Given the description of an element on the screen output the (x, y) to click on. 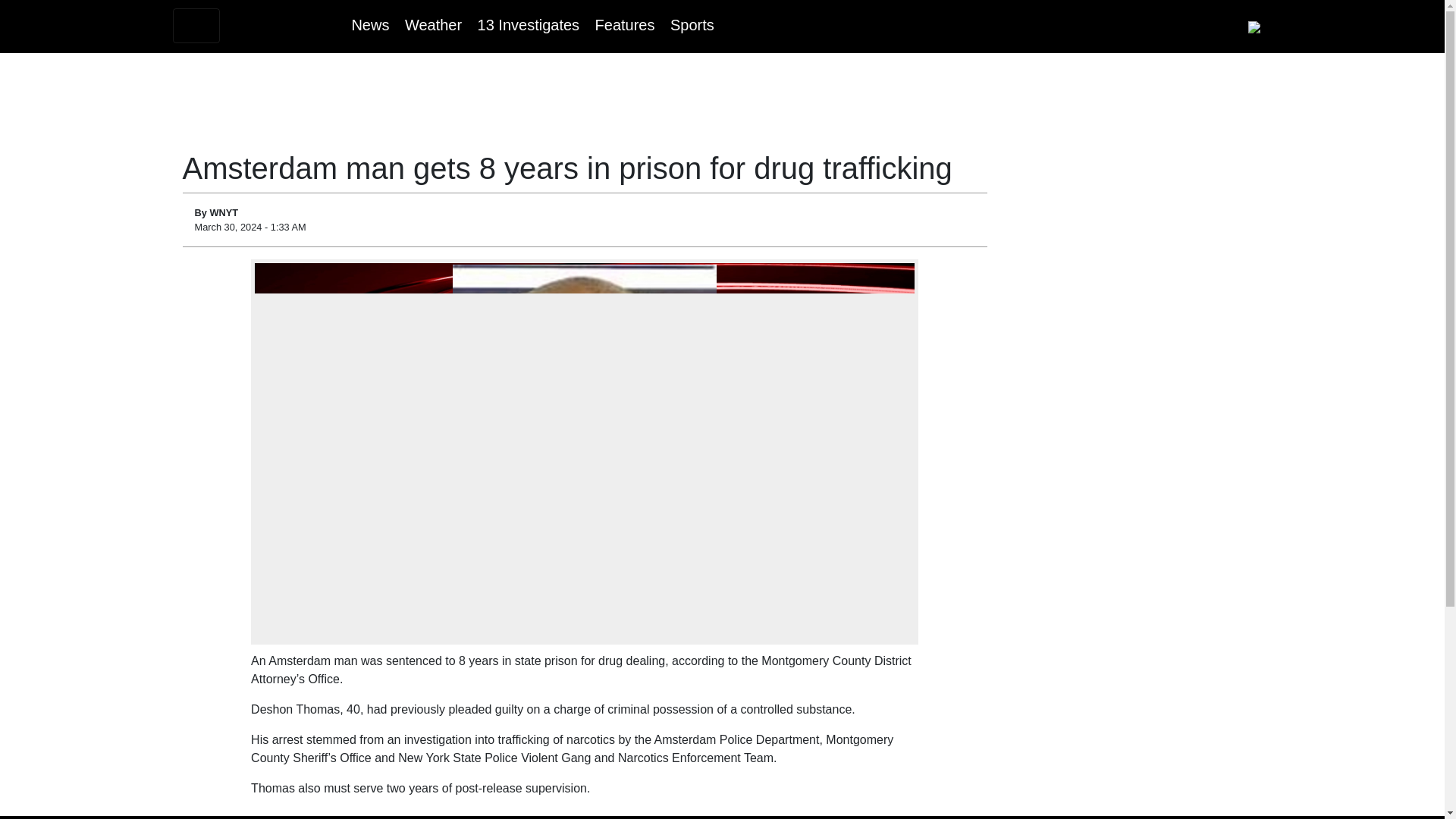
Weather (432, 24)
Sports (691, 24)
13 Investigates (528, 24)
Features (625, 24)
News (369, 24)
